Given the description of an element on the screen output the (x, y) to click on. 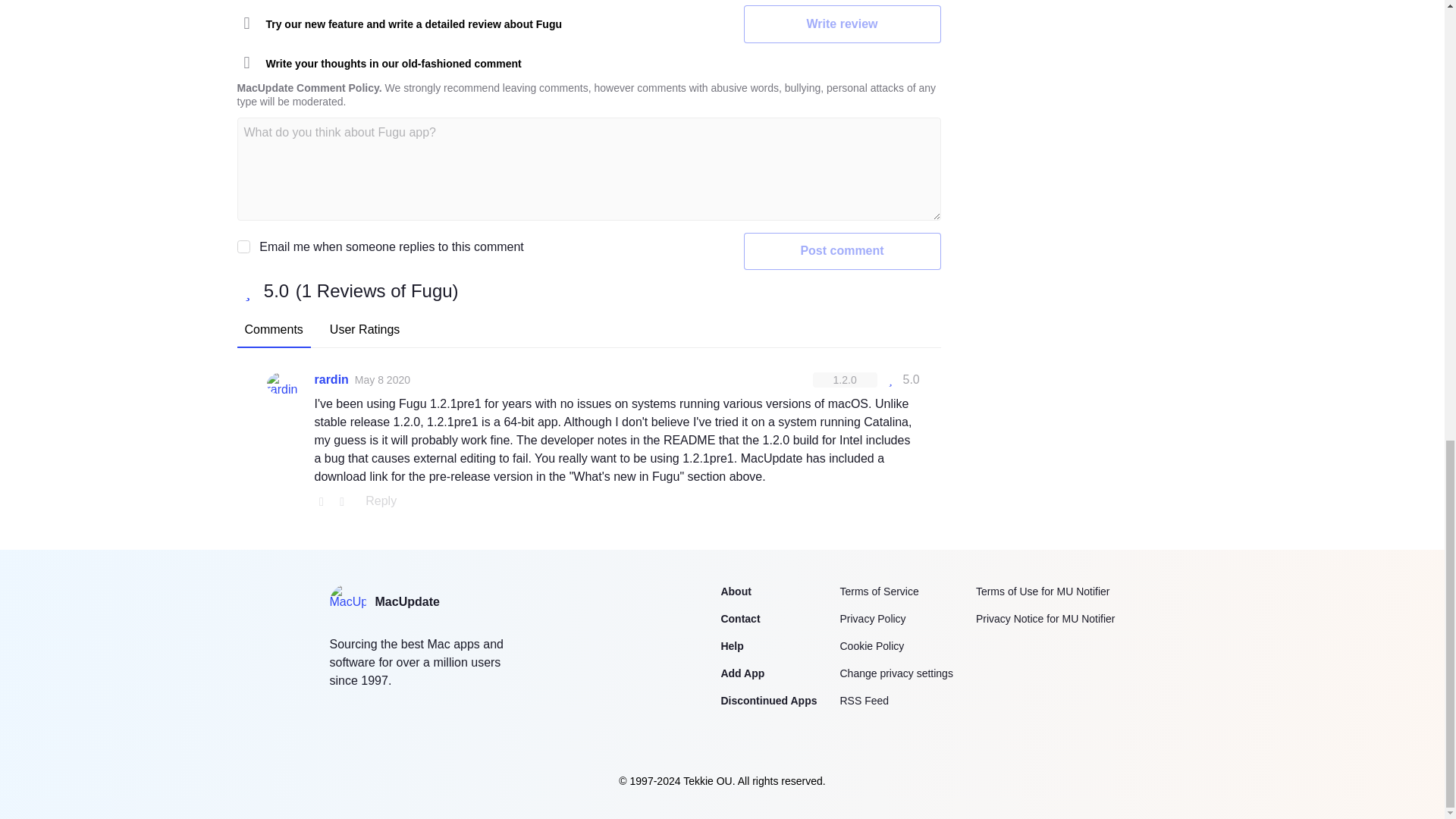
rardin (330, 380)
Version: 1.2.0 (844, 379)
